Given the description of an element on the screen output the (x, y) to click on. 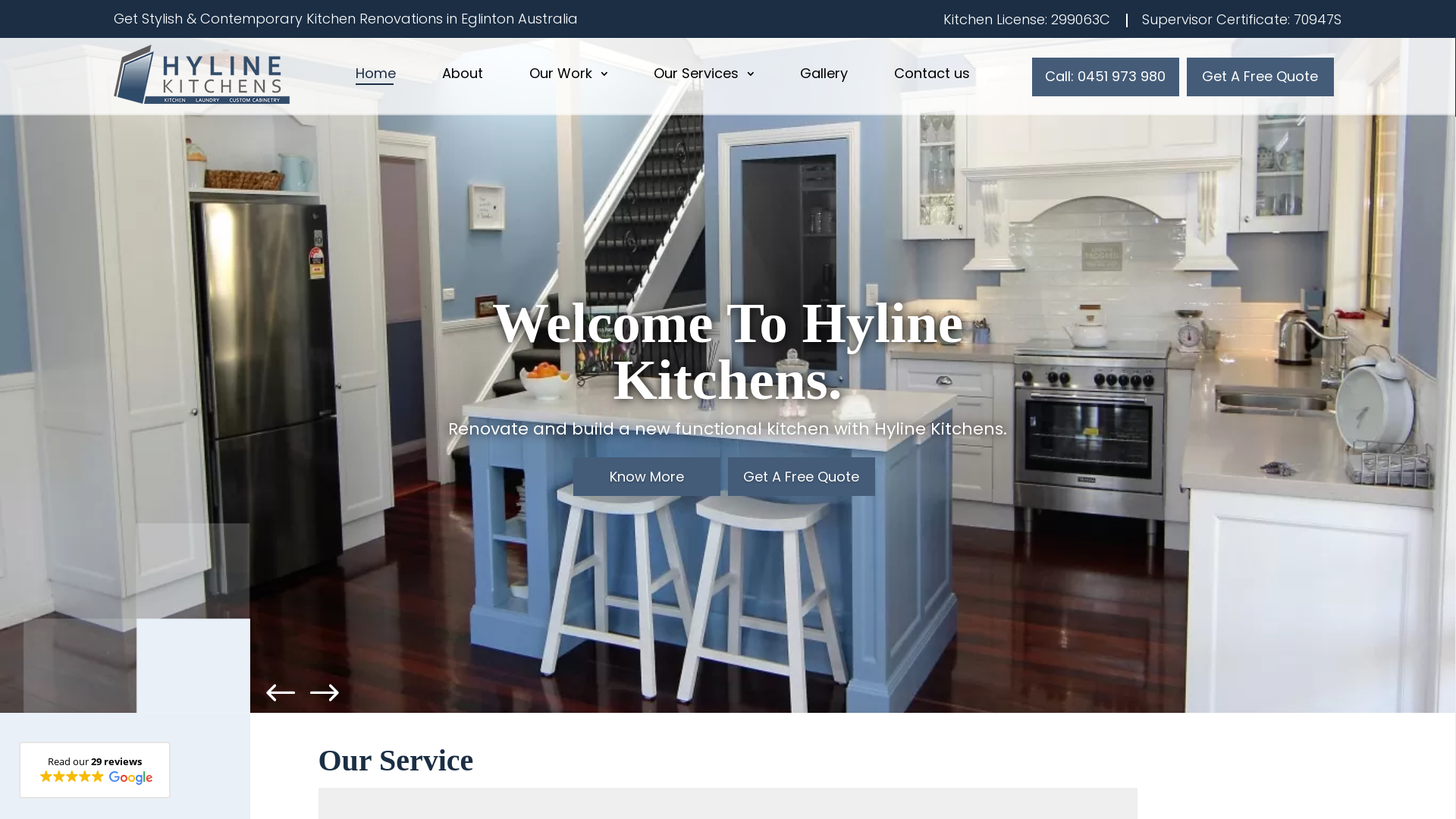
Call: 0451 973 980 Element type: text (1105, 76)
Gallery Element type: text (823, 76)
Get A Free Quote Element type: text (1259, 76)
Get A Free Quote Element type: text (801, 476)
Our Services Element type: text (703, 76)
Our Work Element type: text (568, 76)
About Element type: text (462, 76)
Contact us Element type: text (931, 76)
Know More Element type: text (646, 476)
Home Element type: text (375, 76)
